Given the description of an element on the screen output the (x, y) to click on. 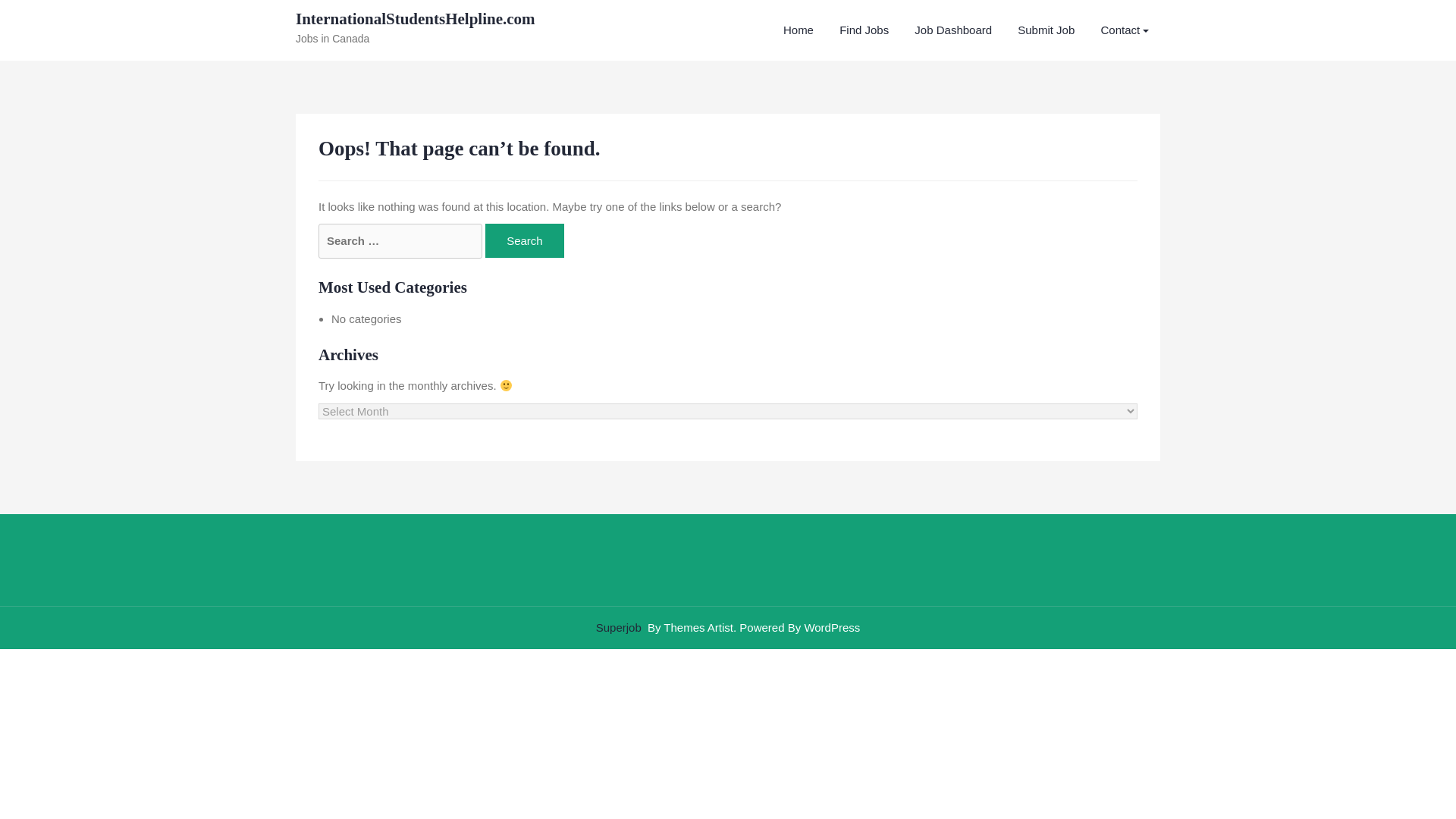
Job Dashboard (952, 29)
Search (524, 240)
Home (798, 29)
Search (524, 240)
Contact (1124, 29)
Find Jobs (863, 29)
InternationalStudentsHelpline.com (415, 18)
Superjob (618, 626)
Submit Job (1046, 29)
Search (524, 240)
